Given the description of an element on the screen output the (x, y) to click on. 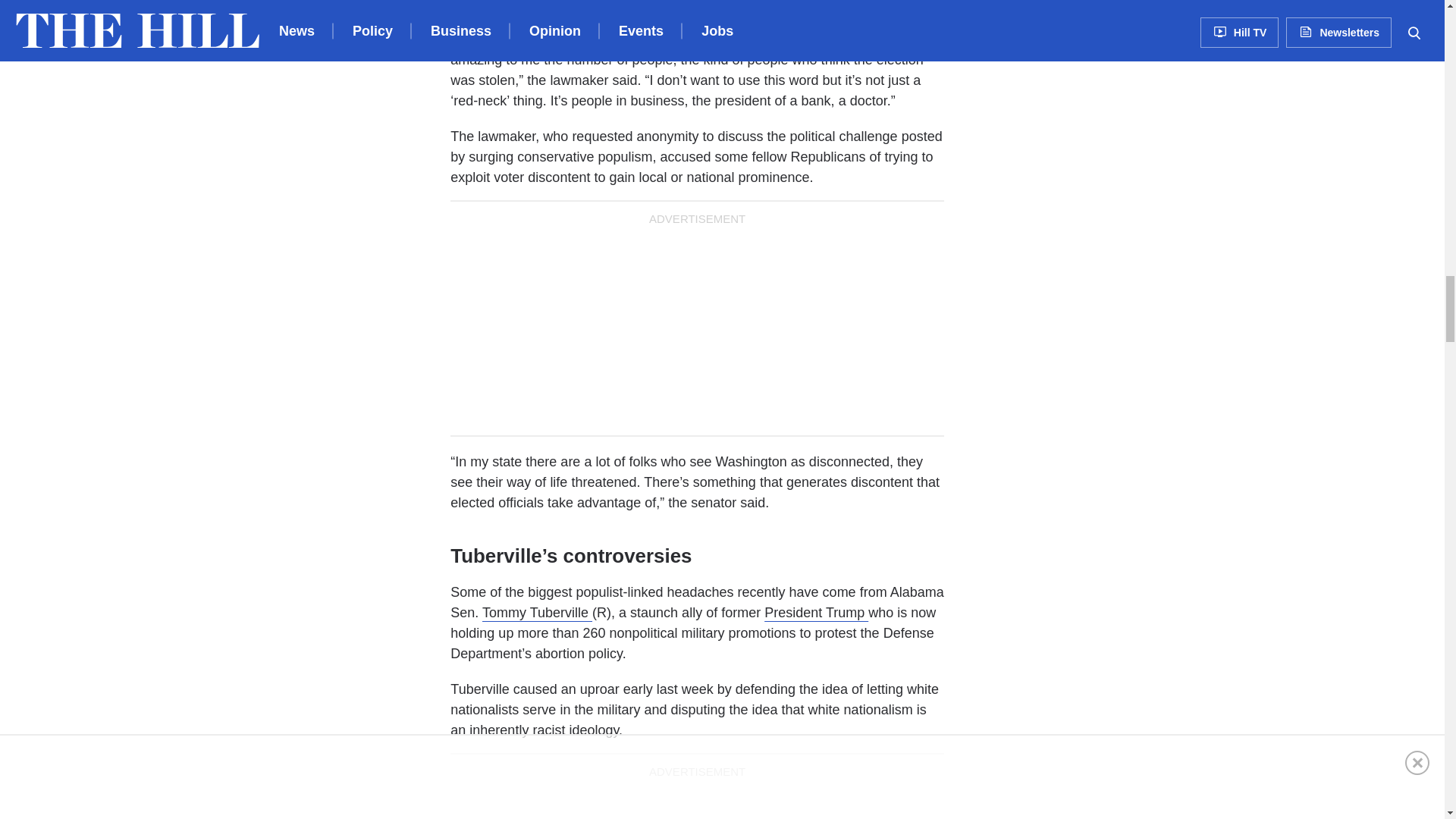
3rd party ad content (696, 801)
3rd party ad content (696, 326)
